Given the description of an element on the screen output the (x, y) to click on. 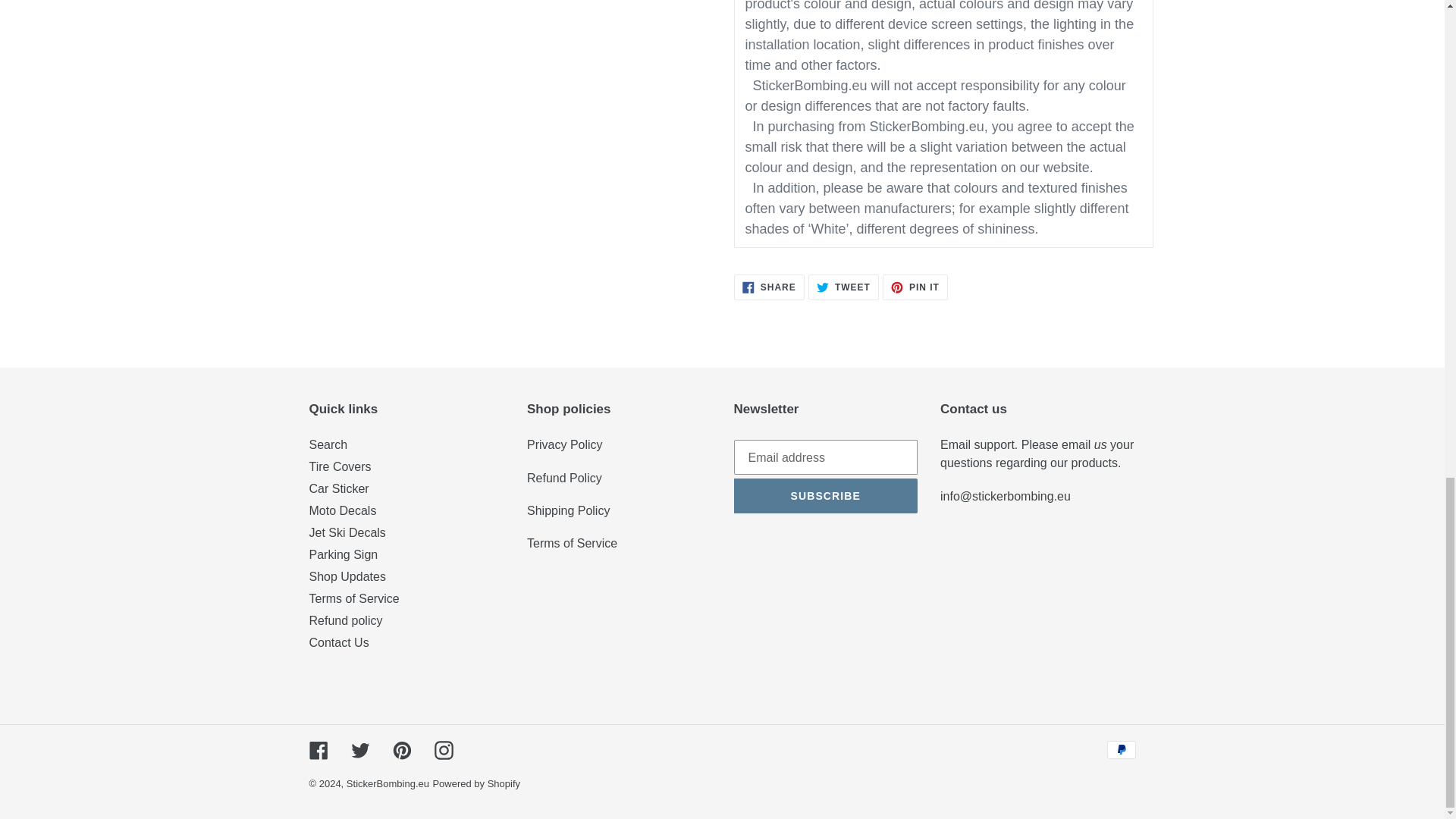
Terms of Service (572, 543)
Shipping Policy (568, 510)
Terms of Service (564, 444)
Refund Policy (564, 477)
